Given the description of an element on the screen output the (x, y) to click on. 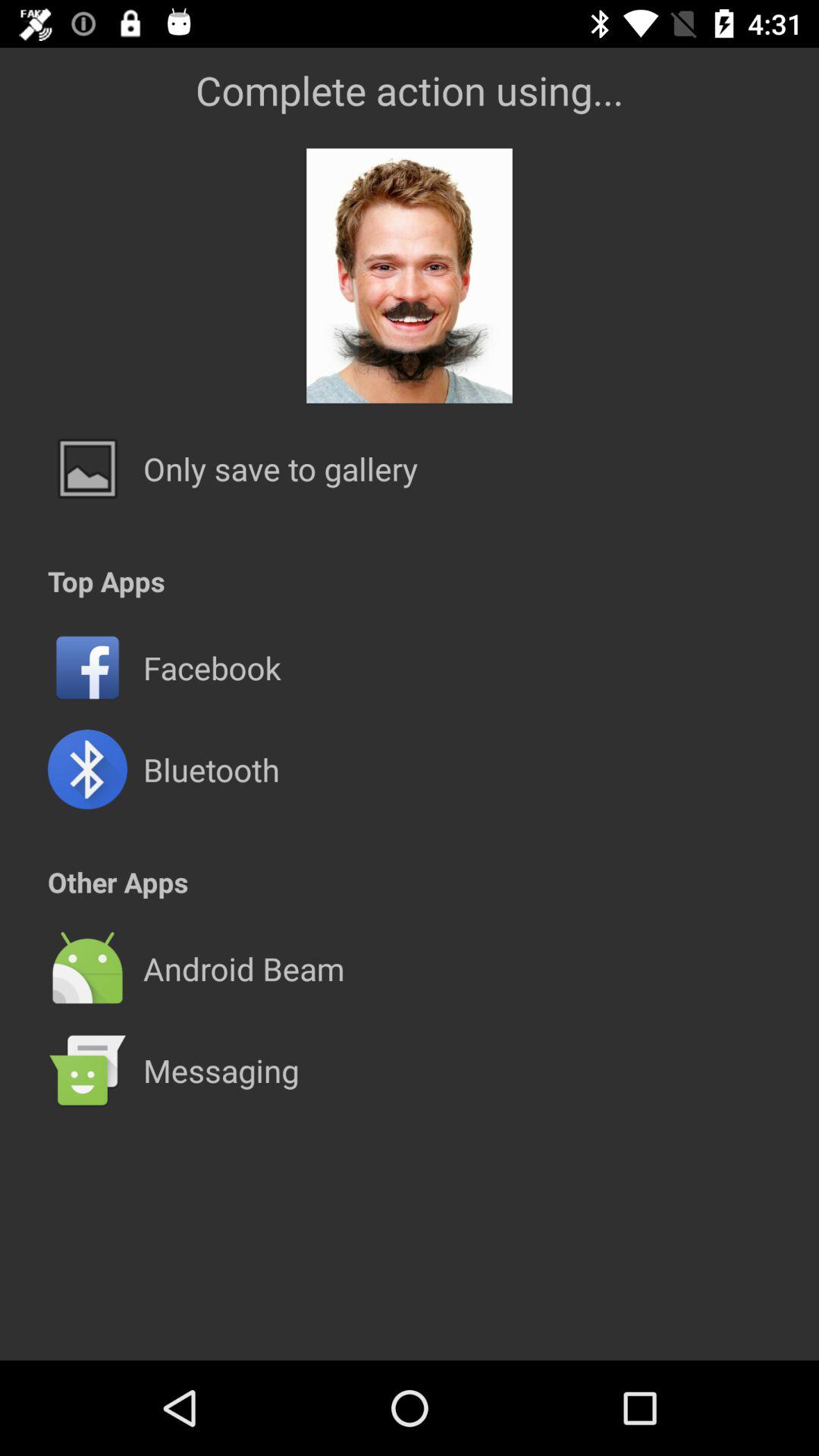
flip to bluetooth icon (211, 769)
